Given the description of an element on the screen output the (x, y) to click on. 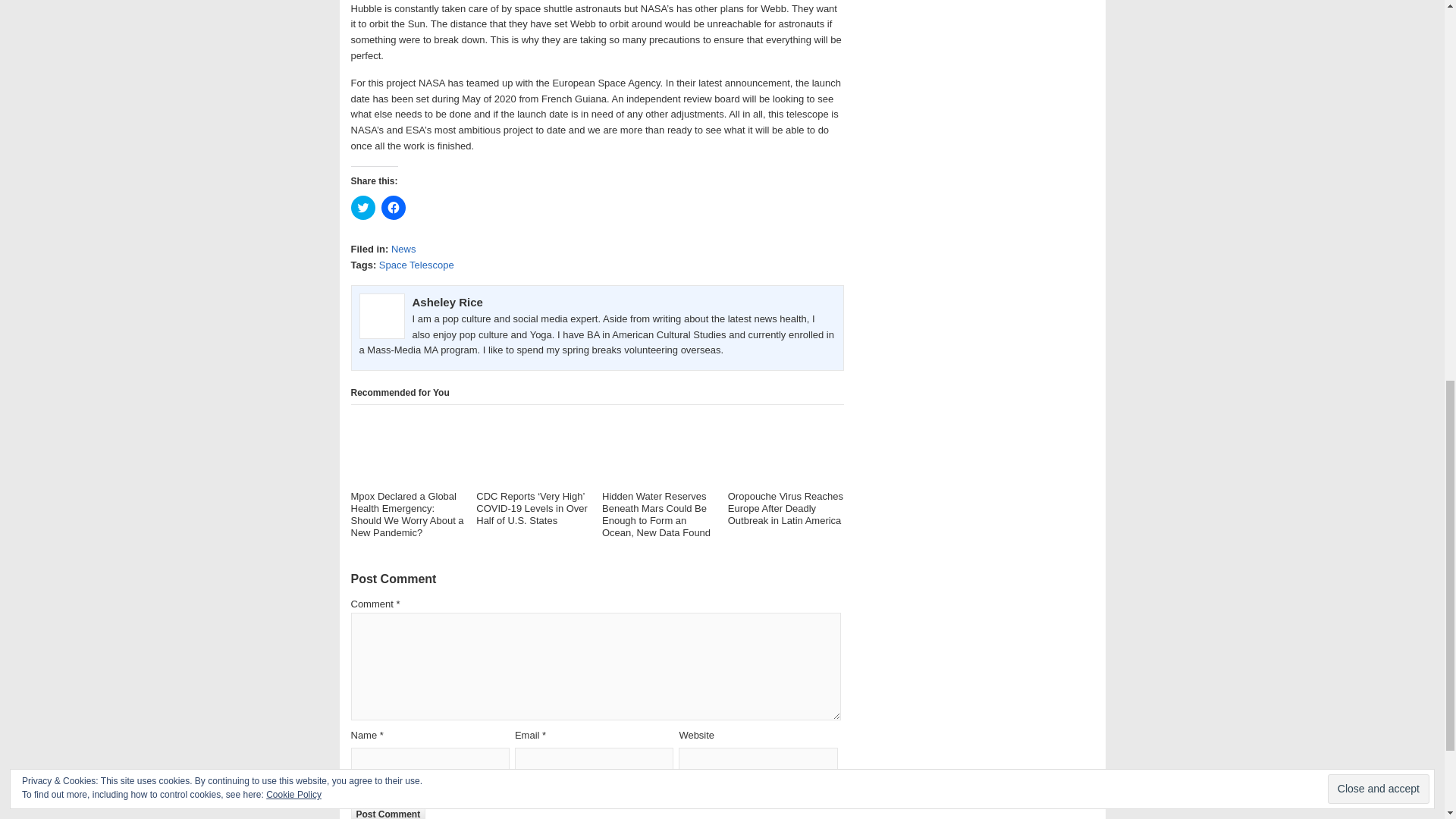
Click to share on Facebook (392, 207)
Post Comment (387, 810)
Click to share on Twitter (362, 207)
